Given the description of an element on the screen output the (x, y) to click on. 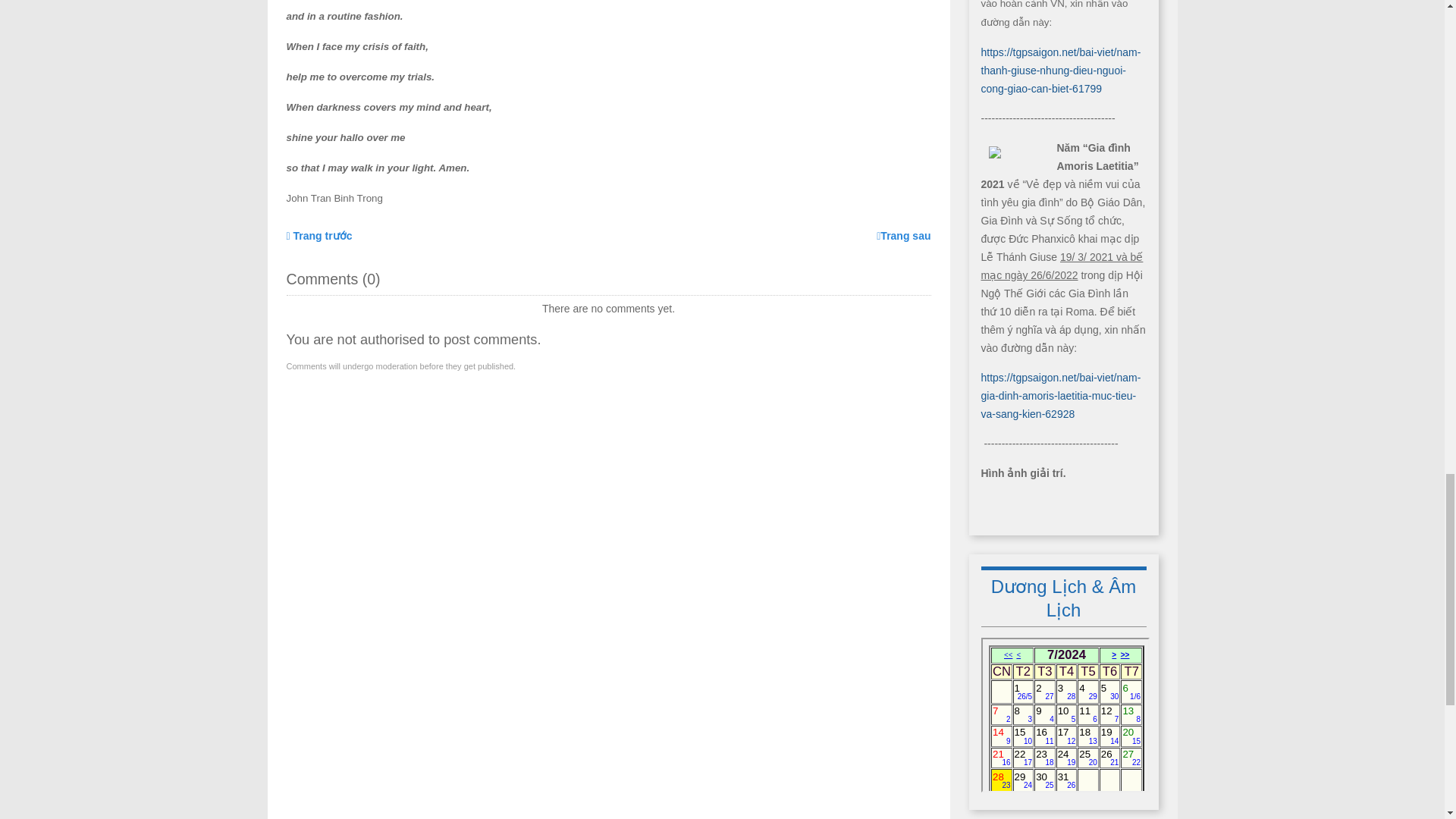
Trang sau (903, 235)
